Given the description of an element on the screen output the (x, y) to click on. 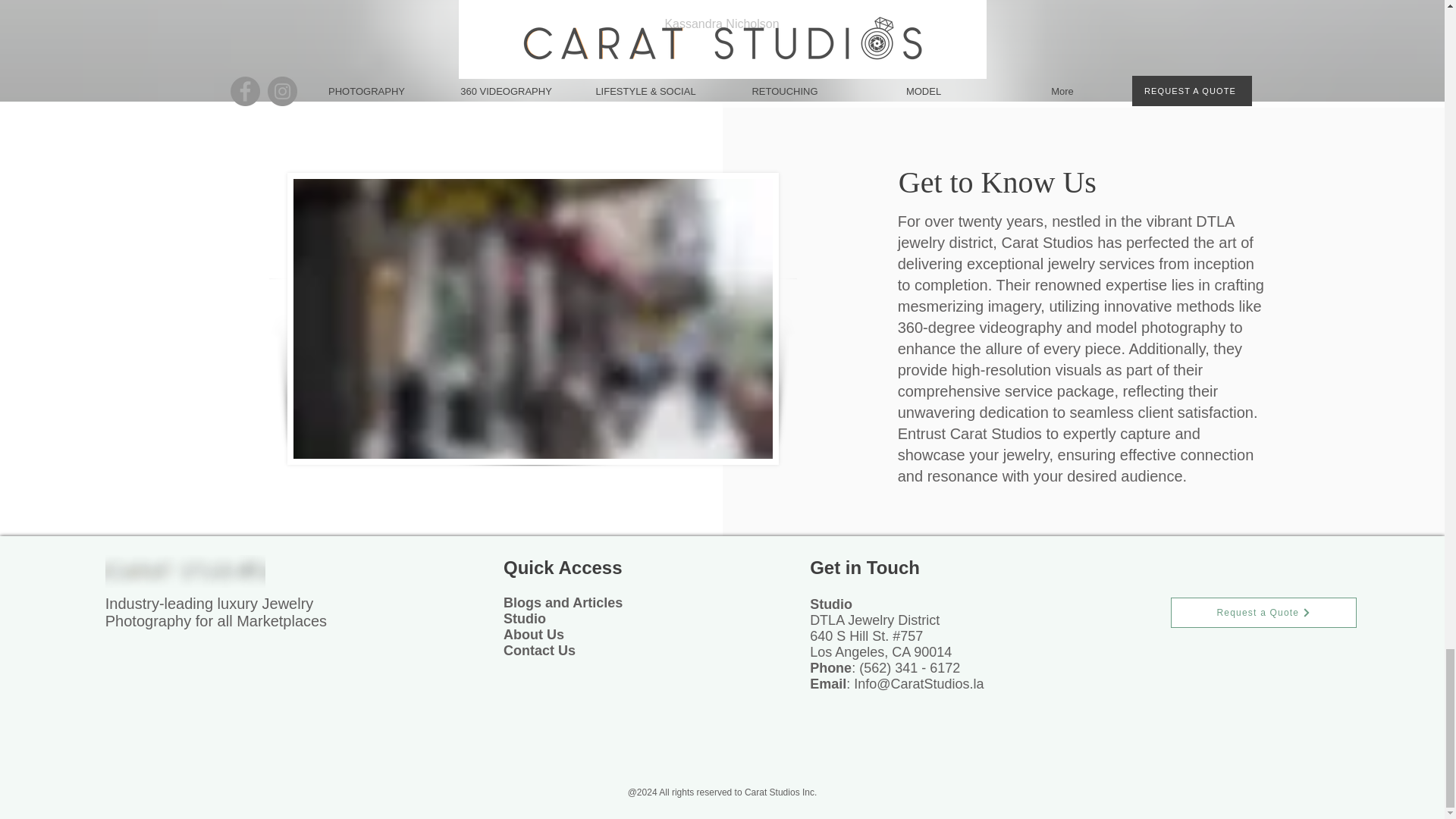
About Us (533, 634)
Blogs and Articles (563, 602)
Kassandra Nicholson (720, 23)
Contact Us (539, 650)
Studio (524, 618)
